Given the description of an element on the screen output the (x, y) to click on. 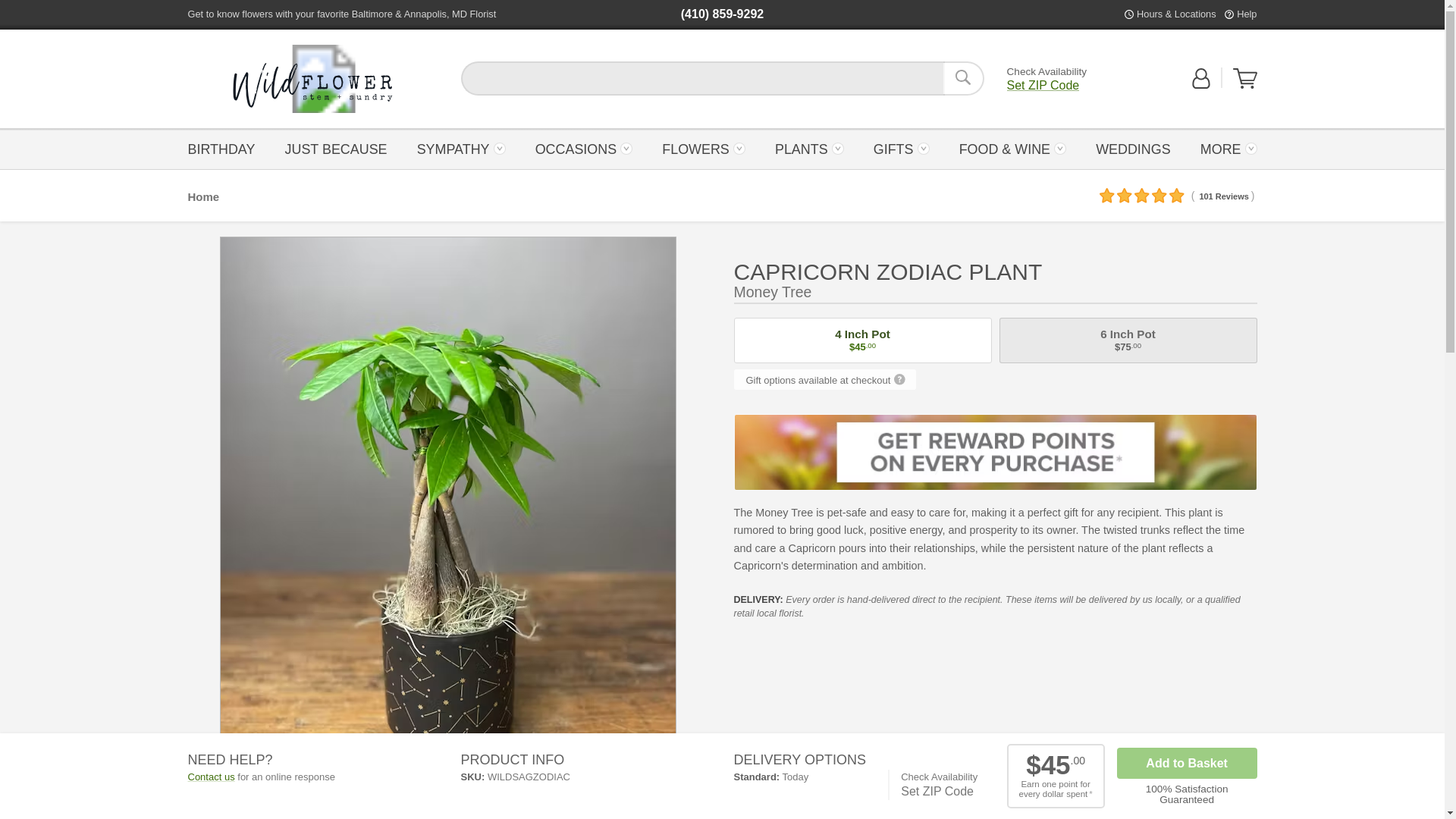
JUST BECAUSE (335, 147)
Search (963, 78)
BIRTHDAY (225, 147)
OCCASIONS (582, 147)
View Your Shopping Cart (1245, 85)
Set ZIP Code (1043, 85)
SYMPATHY (460, 147)
Help (1246, 13)
Back to the Home Page (312, 79)
View Your Shopping Cart (1245, 78)
